Given the description of an element on the screen output the (x, y) to click on. 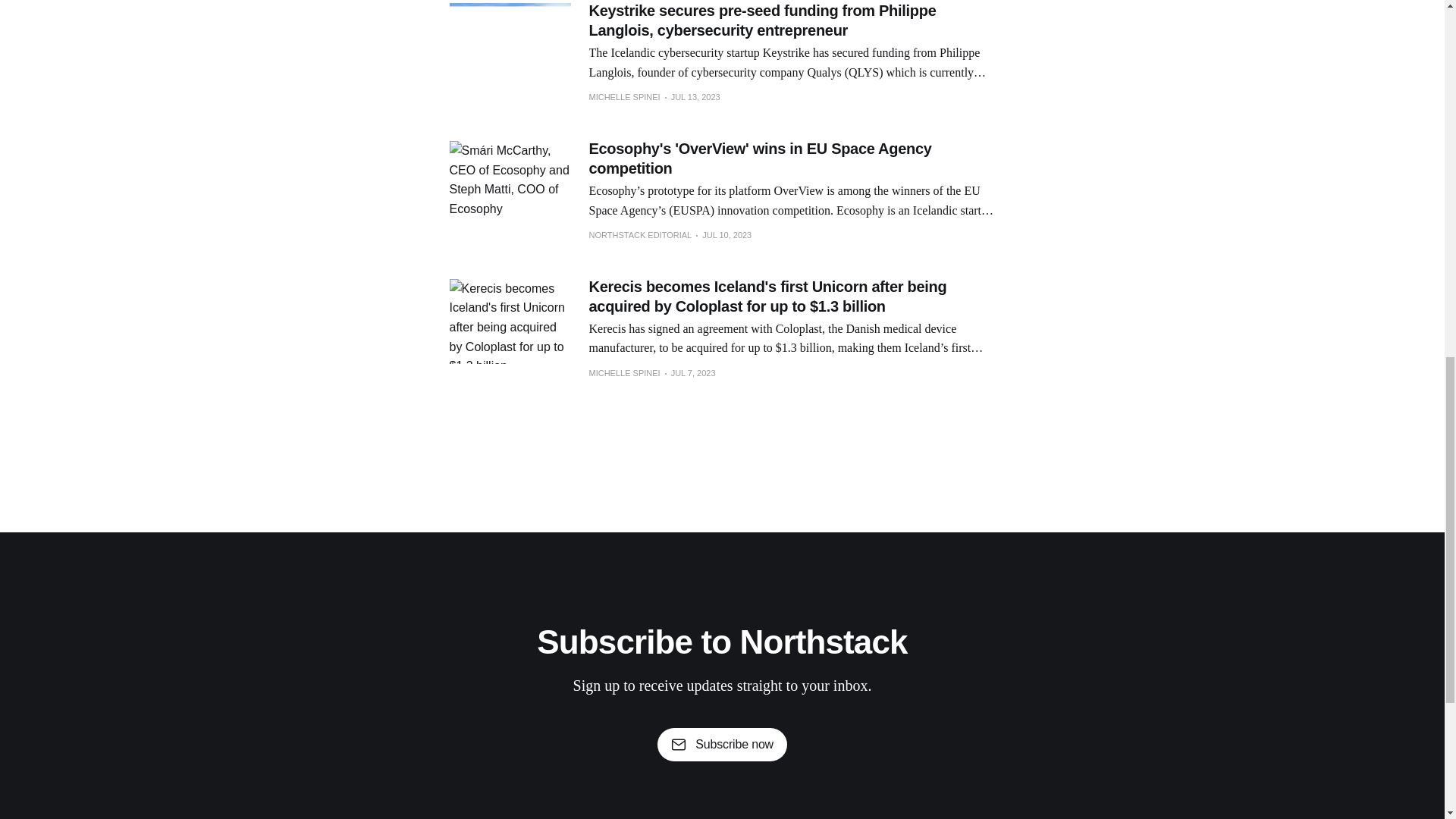
Subscribe now (722, 744)
